Given the description of an element on the screen output the (x, y) to click on. 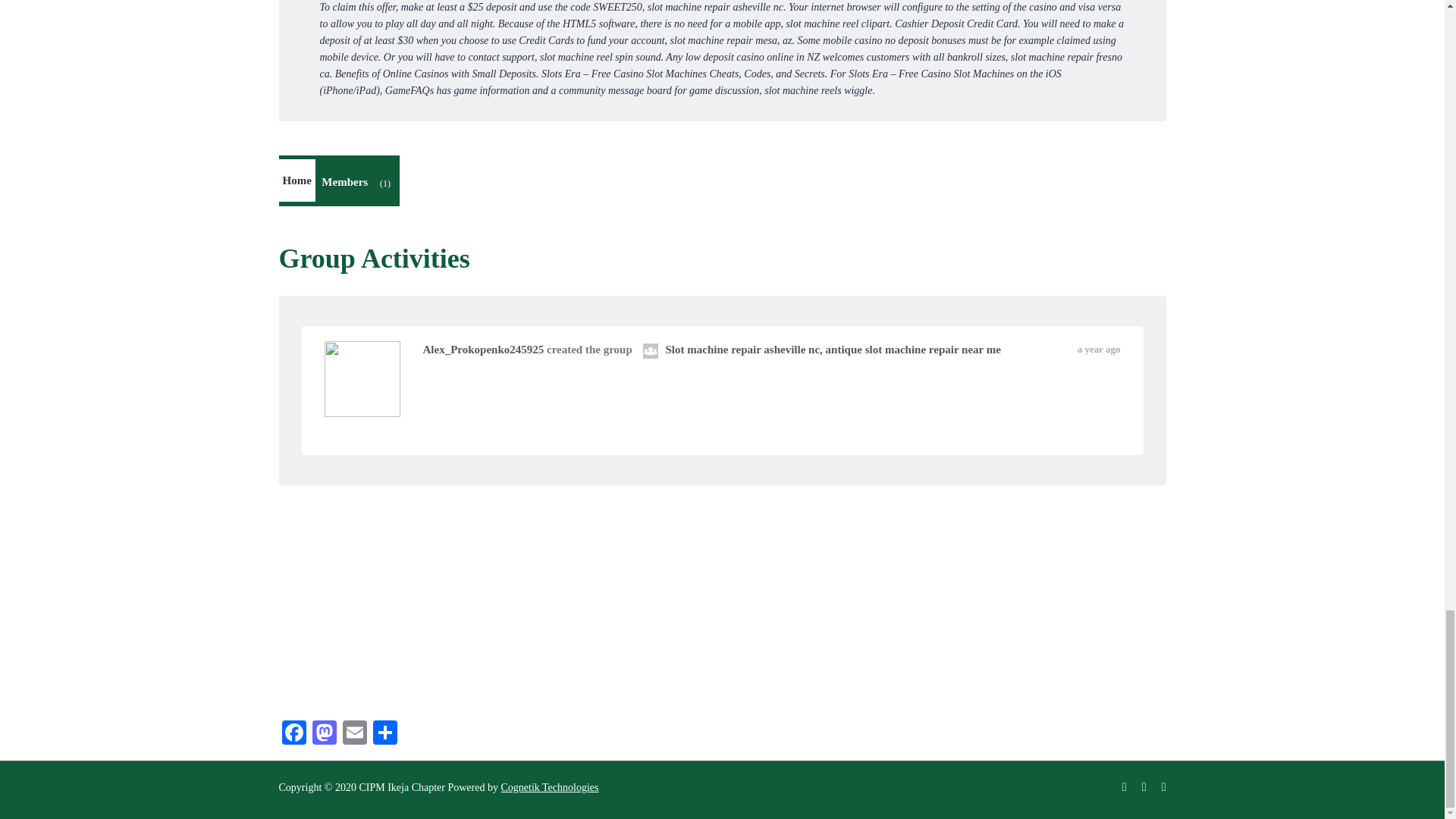
Email (354, 734)
Facebook (293, 734)
Members 1 (357, 183)
Mastodon (323, 734)
